Given the description of an element on the screen output the (x, y) to click on. 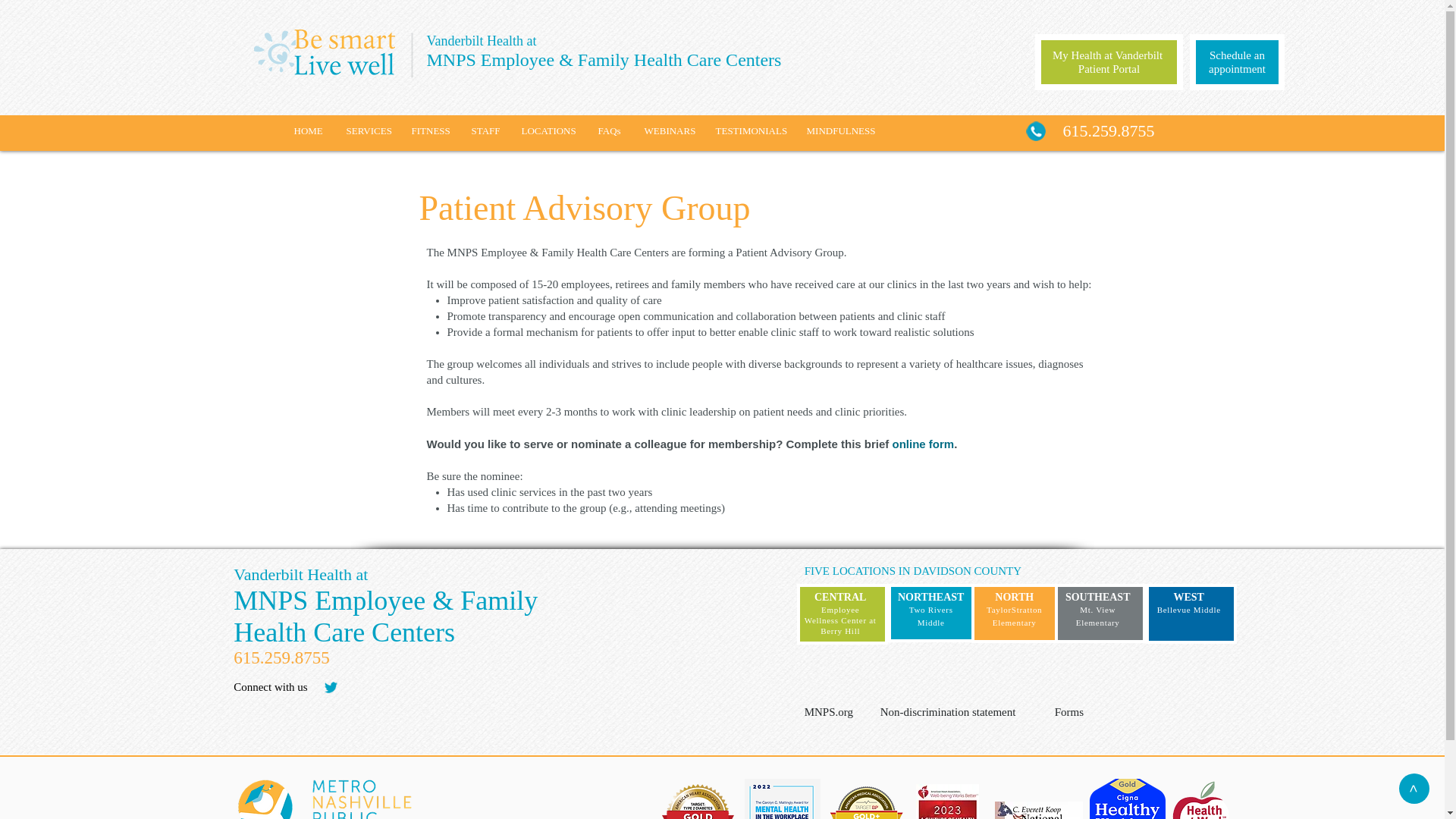
HOME (308, 130)
MINDFULNESS (839, 130)
Site Search (470, 691)
Forms (1090, 711)
Patient Portal (1109, 69)
online form (923, 443)
WEBINARS (667, 130)
MNPS.org (840, 711)
Signature logo - selection 2022.png (782, 798)
SERVICES (367, 130)
